Given the description of an element on the screen output the (x, y) to click on. 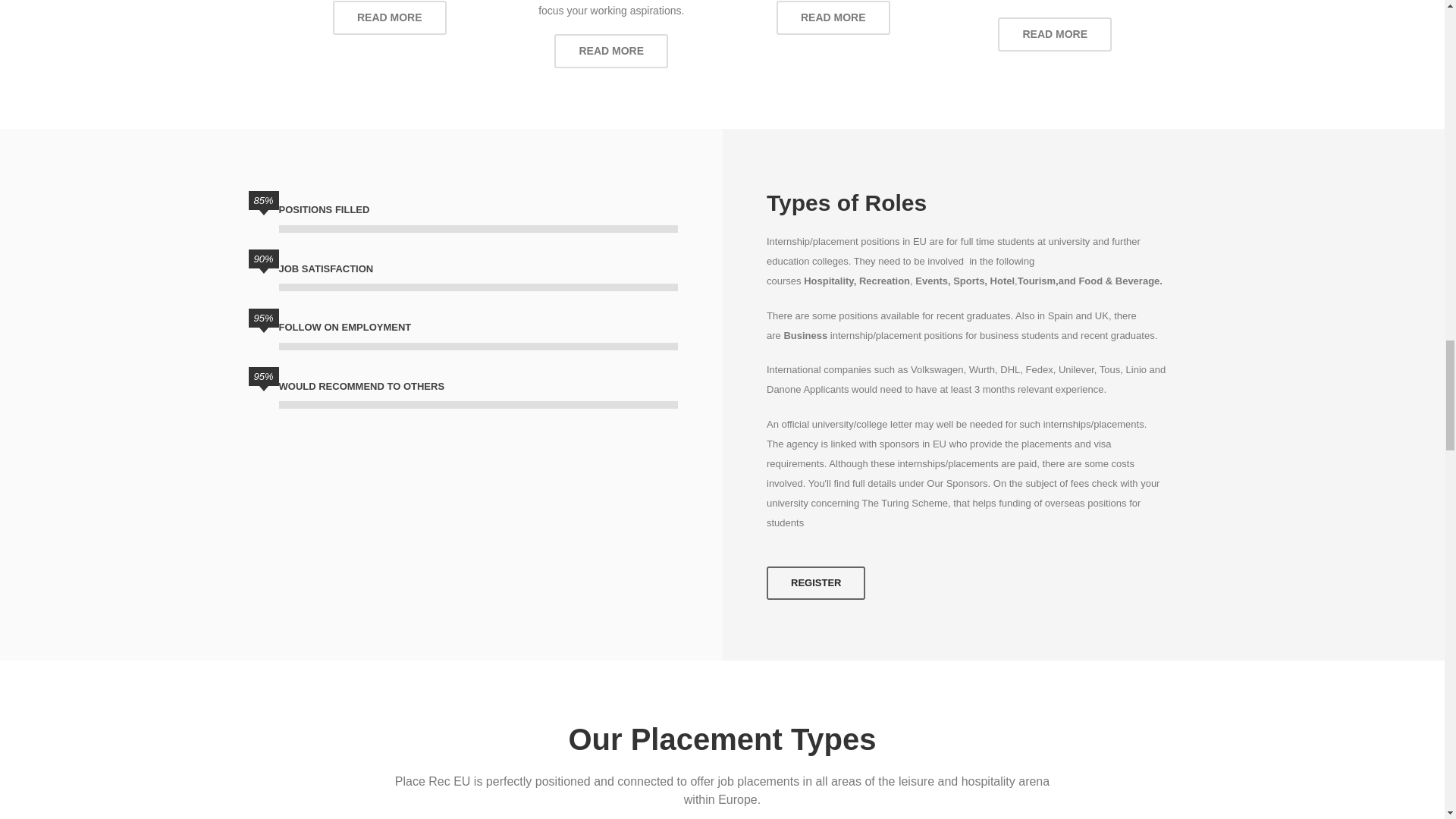
Our Sponsors (956, 482)
READ MORE (389, 17)
READ MORE (1054, 34)
REGISTER (815, 582)
READ MORE (832, 17)
READ MORE (611, 50)
